Given the description of an element on the screen output the (x, y) to click on. 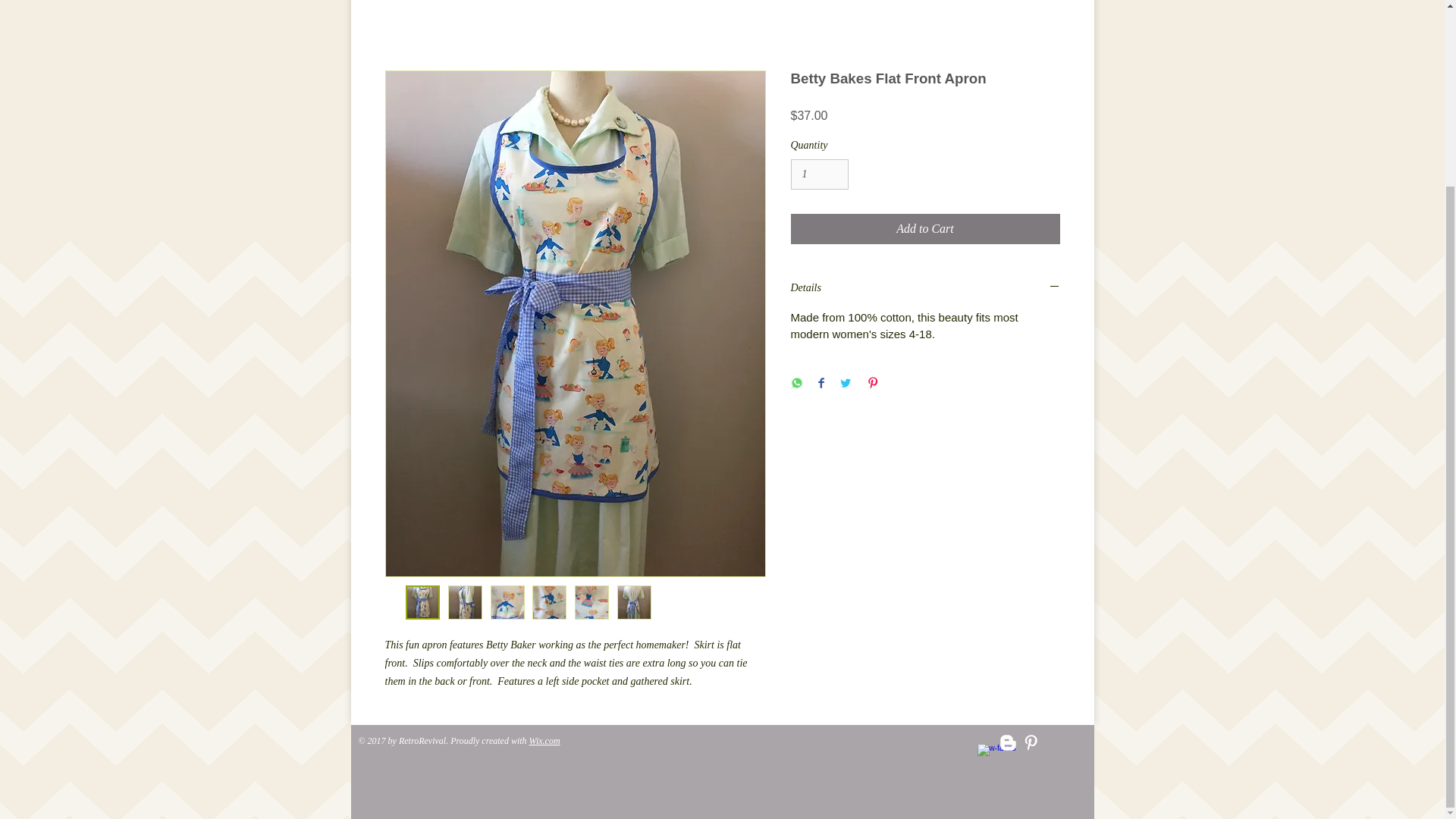
Wix.com (544, 740)
Add to Cart (924, 228)
Details (924, 288)
1 (818, 174)
